Given the description of an element on the screen output the (x, y) to click on. 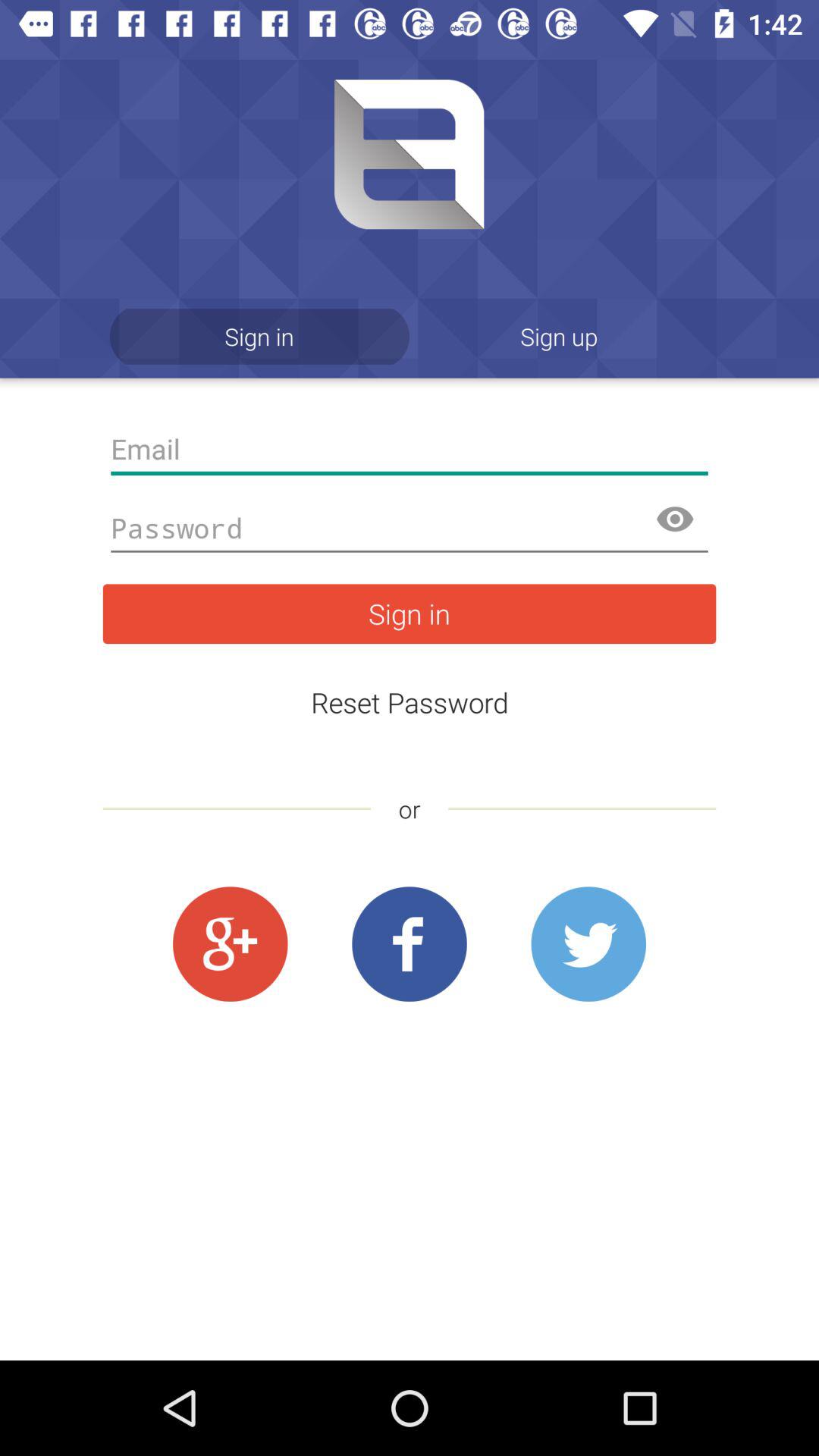
turn off the app below the sign in item (409, 449)
